Given the description of an element on the screen output the (x, y) to click on. 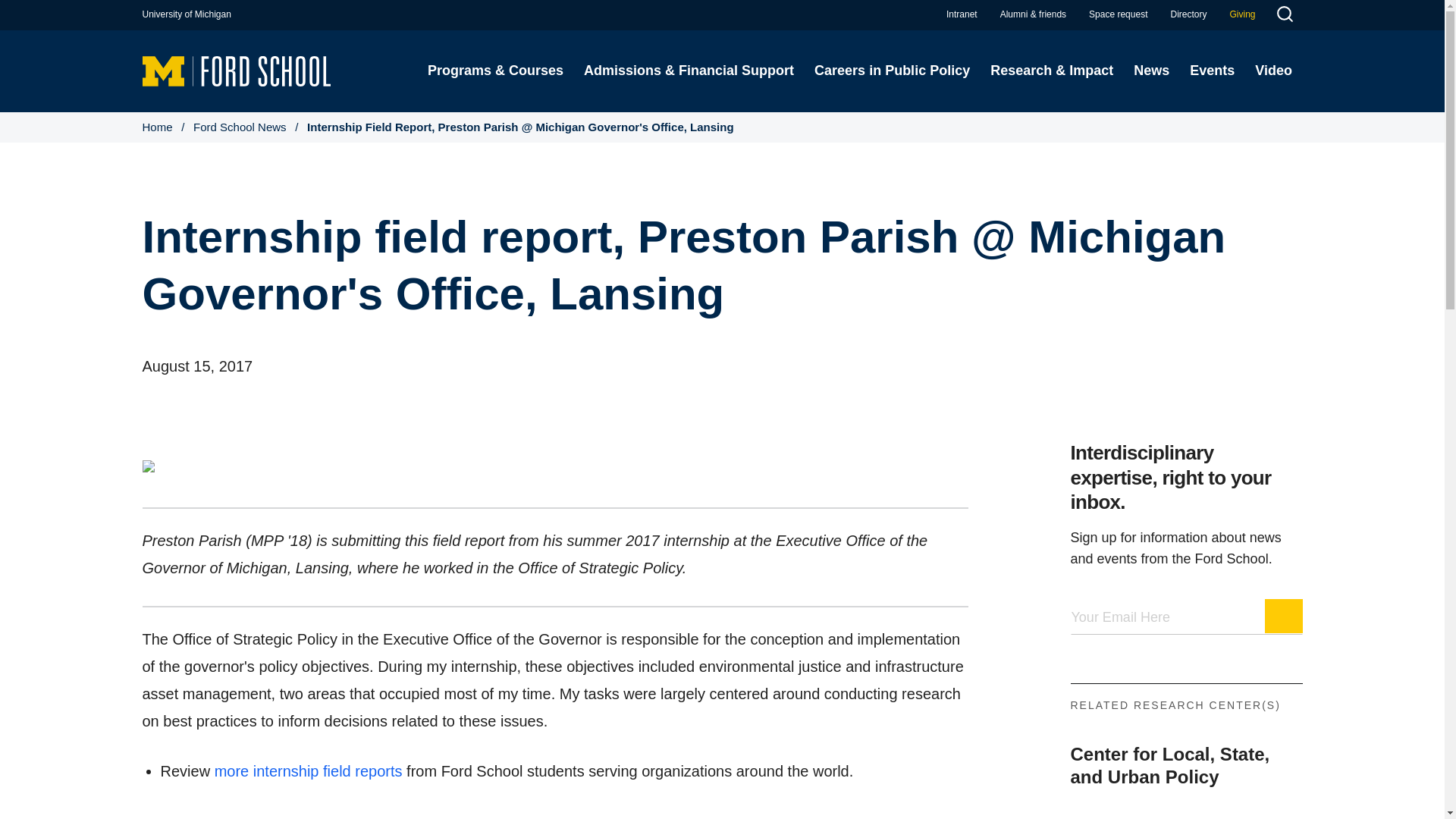
Ford School faculty, staff, and student contacts (1188, 14)
Subscribe (1284, 615)
Giving (1241, 14)
A connected community to each other, and to the world (1032, 14)
Learn more about our facilities and how to reserve them (1118, 14)
Directory (1188, 14)
Give to the Ford School (1241, 14)
Search Toggle (1283, 15)
Ford School academic program and course information (494, 71)
Intranet (961, 14)
University of Michigan (186, 14)
Space request (1118, 14)
Home (236, 69)
